Given the description of an element on the screen output the (x, y) to click on. 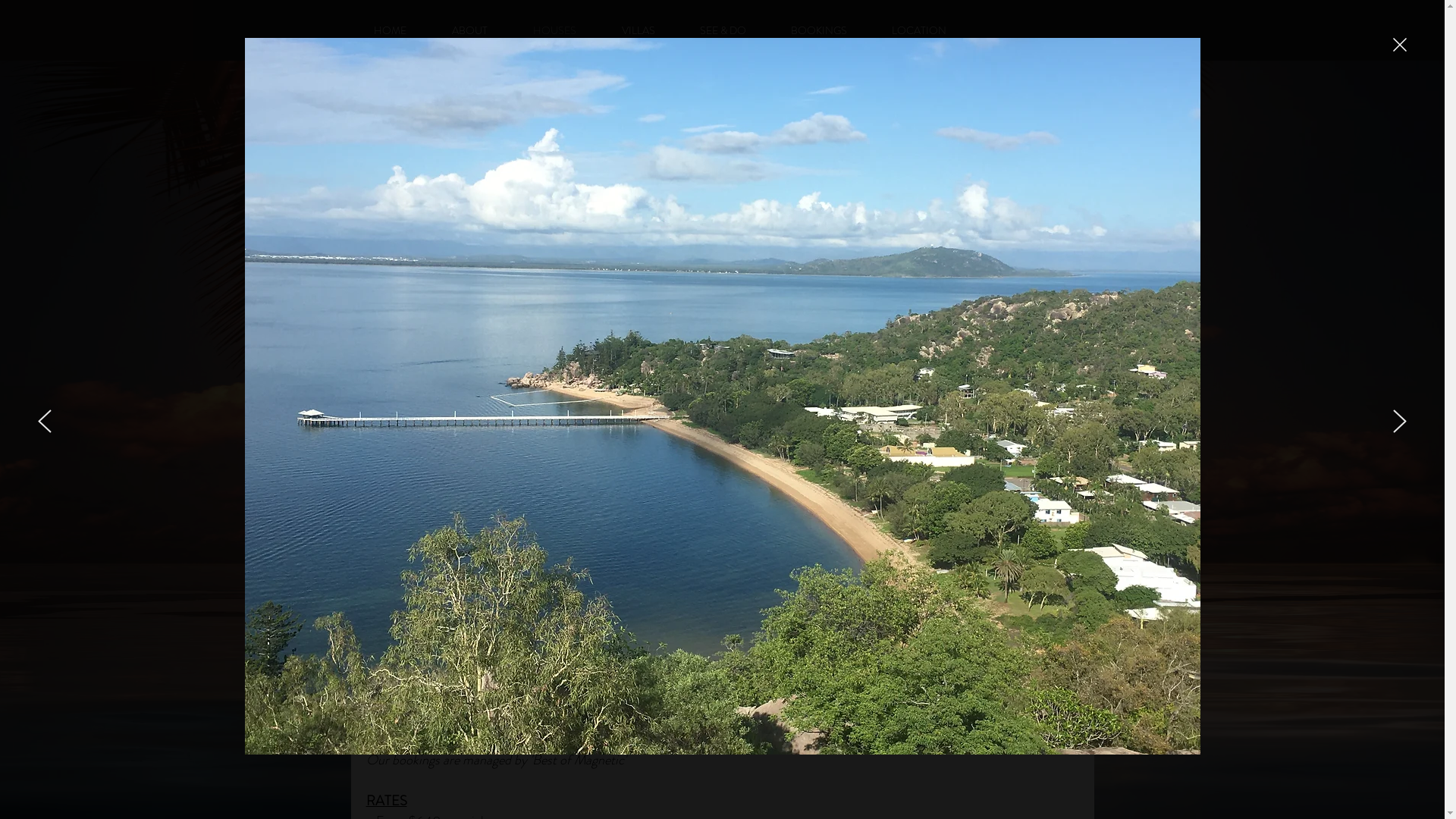
LOCATION Element type: text (918, 30)
HOME Element type: text (389, 30)
BOOKINGS Element type: text (818, 30)
HOUSES Element type: text (553, 30)
SEE & DO Element type: text (722, 30)
Book a Room Element type: text (752, 322)
ABOUT Element type: text (469, 30)
VILLAS Element type: text (638, 30)
Check Availability Element type: text (479, 674)
